Given the description of an element on the screen output the (x, y) to click on. 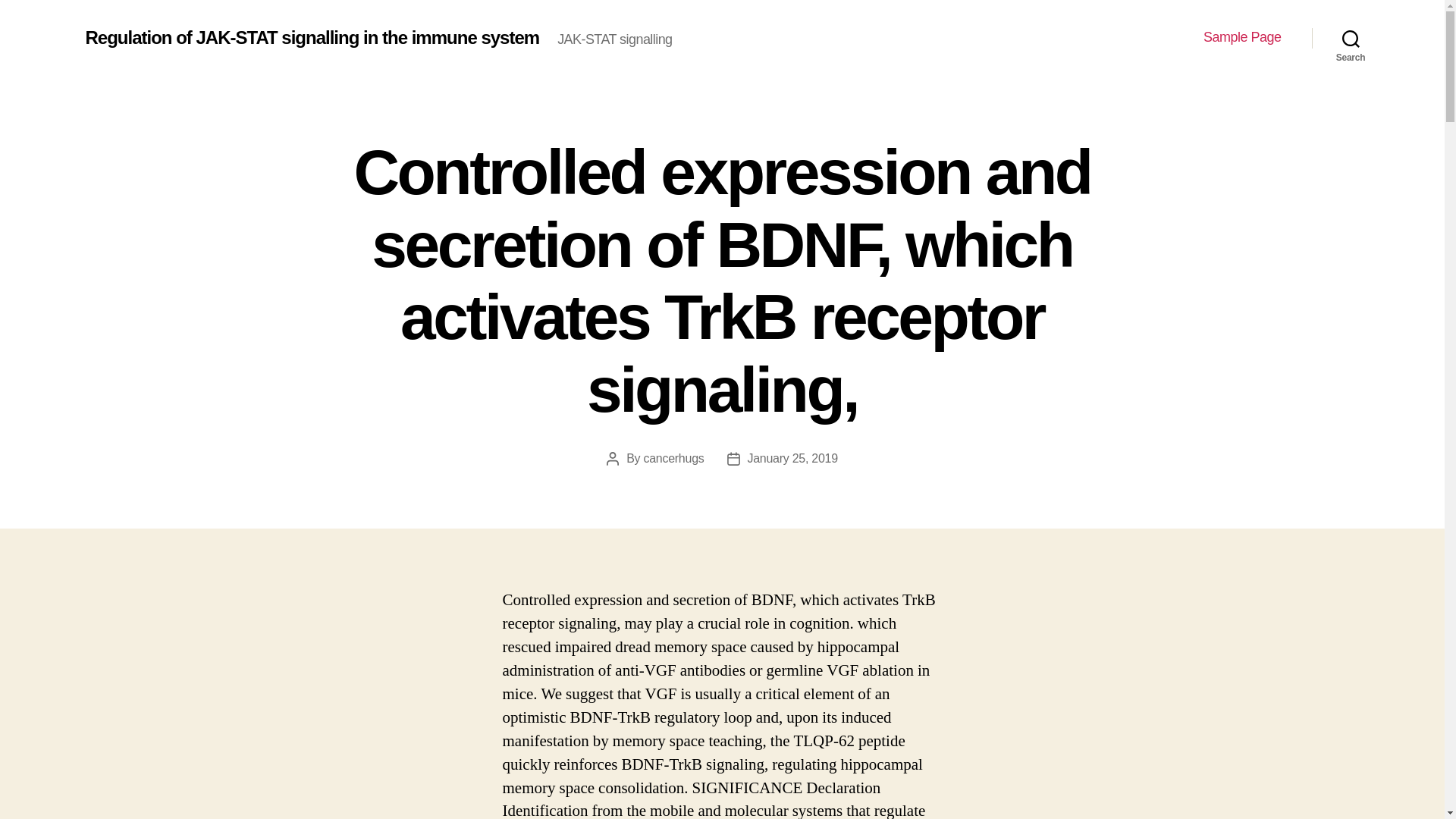
January 25, 2019 (793, 458)
Sample Page (1242, 37)
Regulation of JAK-STAT signalling in the immune system (311, 37)
Search (1350, 37)
cancerhugs (673, 458)
